Given the description of an element on the screen output the (x, y) to click on. 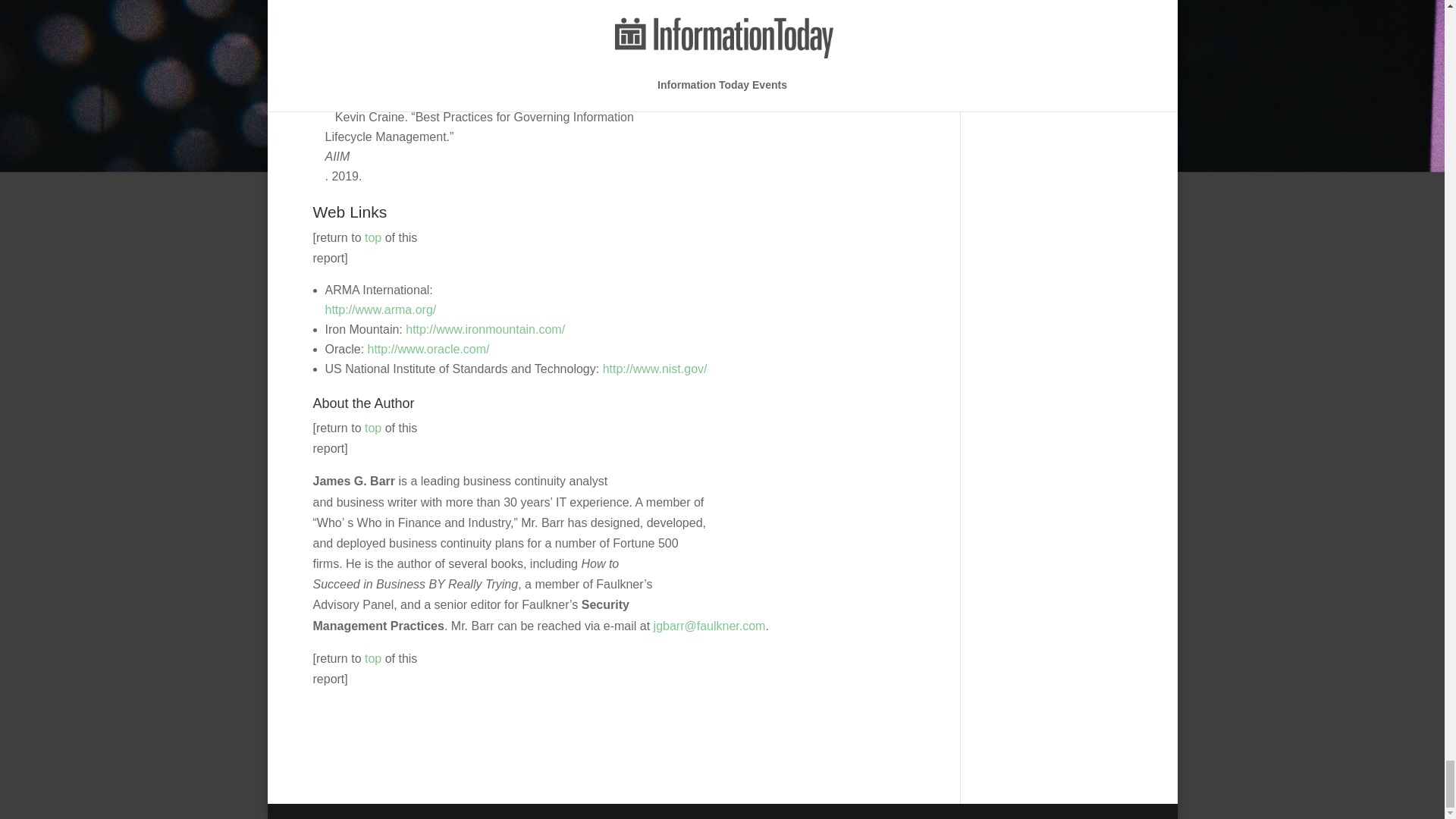
Return to top of page (373, 658)
top (373, 658)
Return to top of page (373, 237)
top (373, 427)
Return to top of page (373, 427)
top (373, 237)
